Given the description of an element on the screen output the (x, y) to click on. 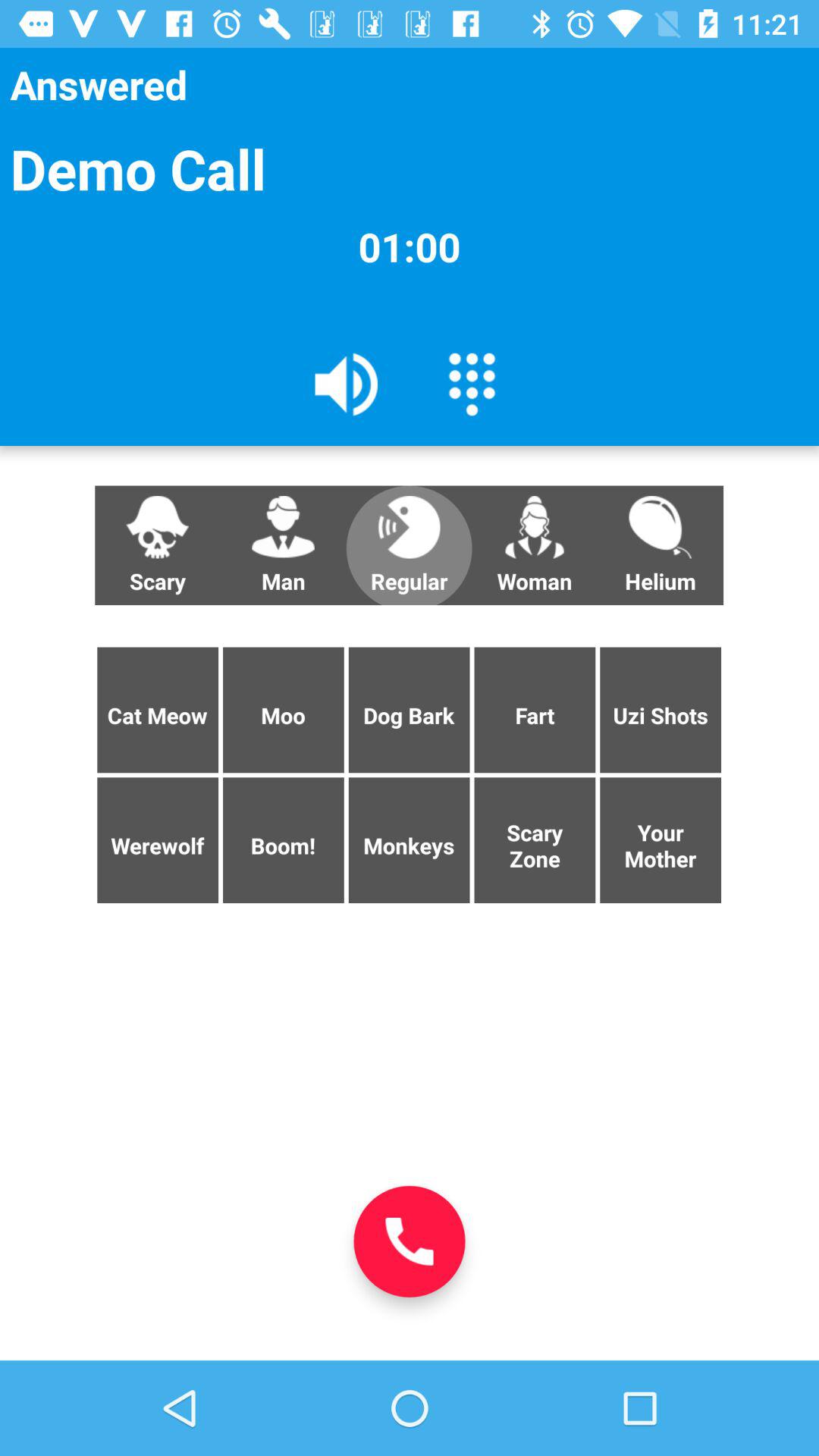
turn on helium item (660, 545)
